Given the description of an element on the screen output the (x, y) to click on. 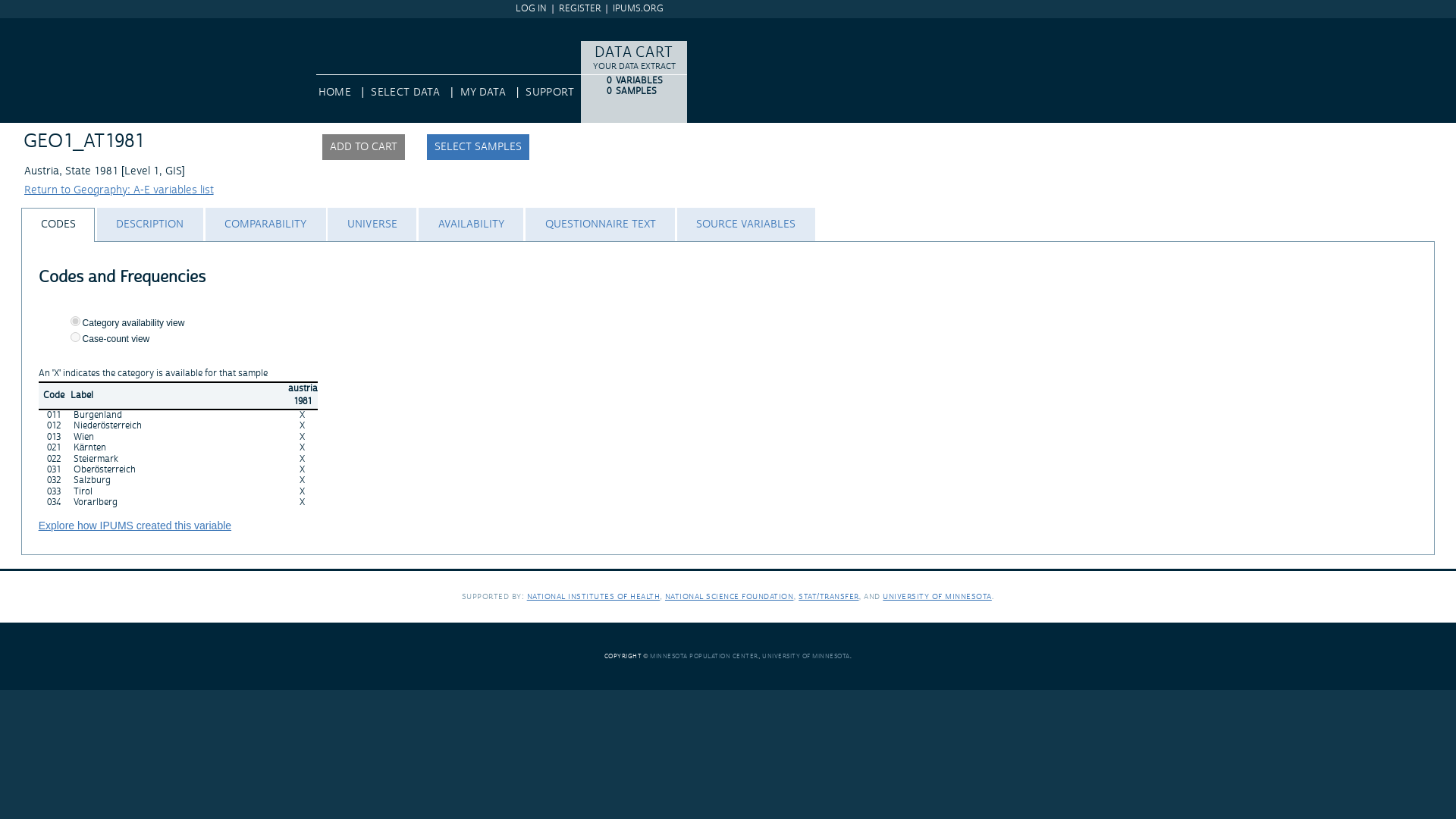
case (74, 337)
SELECT DATA (405, 92)
SUPPORT (549, 92)
QUESTIONNAIRE TEXT (599, 224)
MINNESOTA POPULATION CENTER (703, 655)
SELECT SAMPLES (477, 146)
DESCRIPTION (149, 224)
Add to cart (362, 146)
REGISTER (580, 8)
Return to Geography: A-E variables list (119, 190)
